Given the description of an element on the screen output the (x, y) to click on. 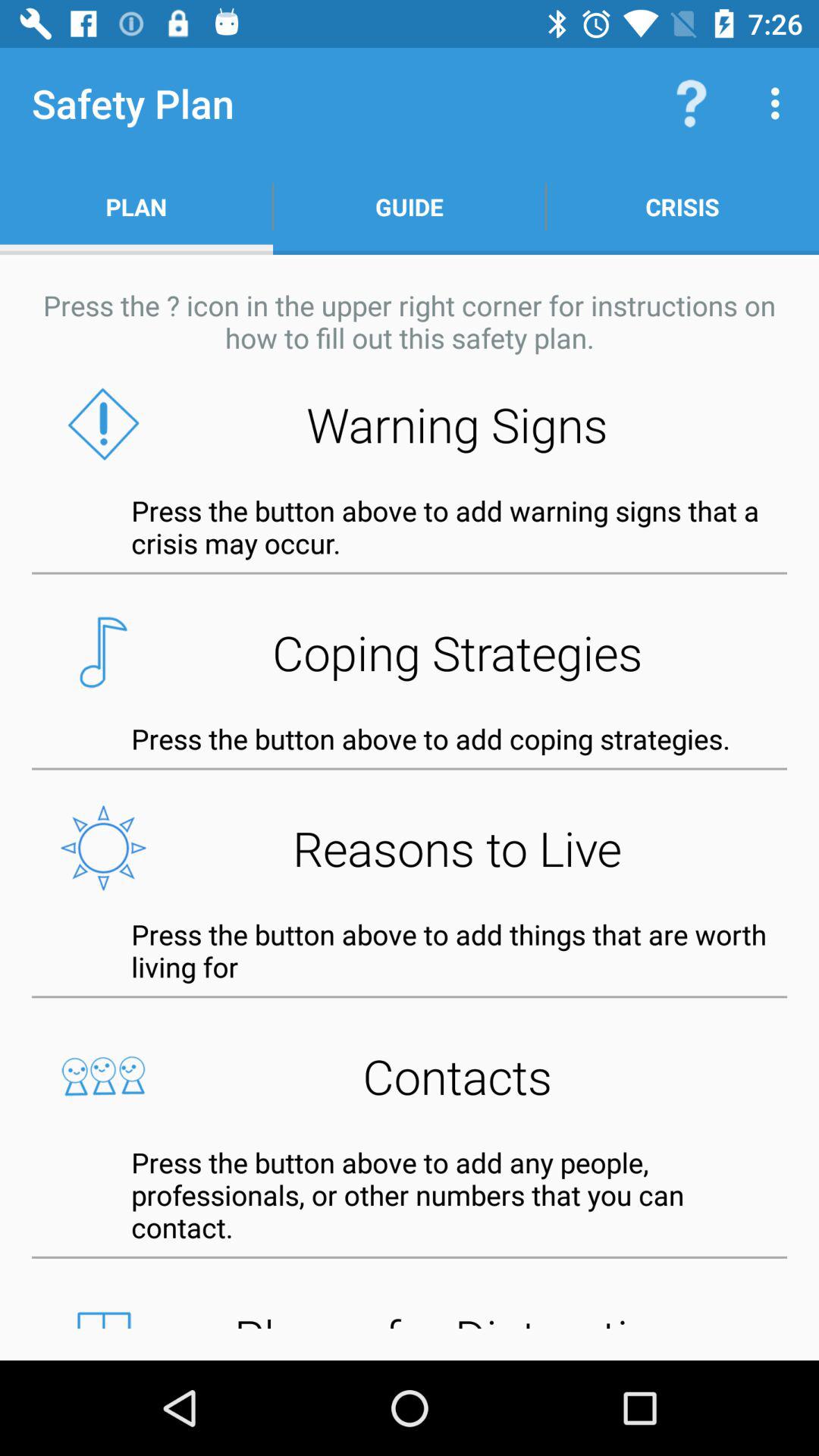
select the app next to the plan item (409, 206)
